Given the description of an element on the screen output the (x, y) to click on. 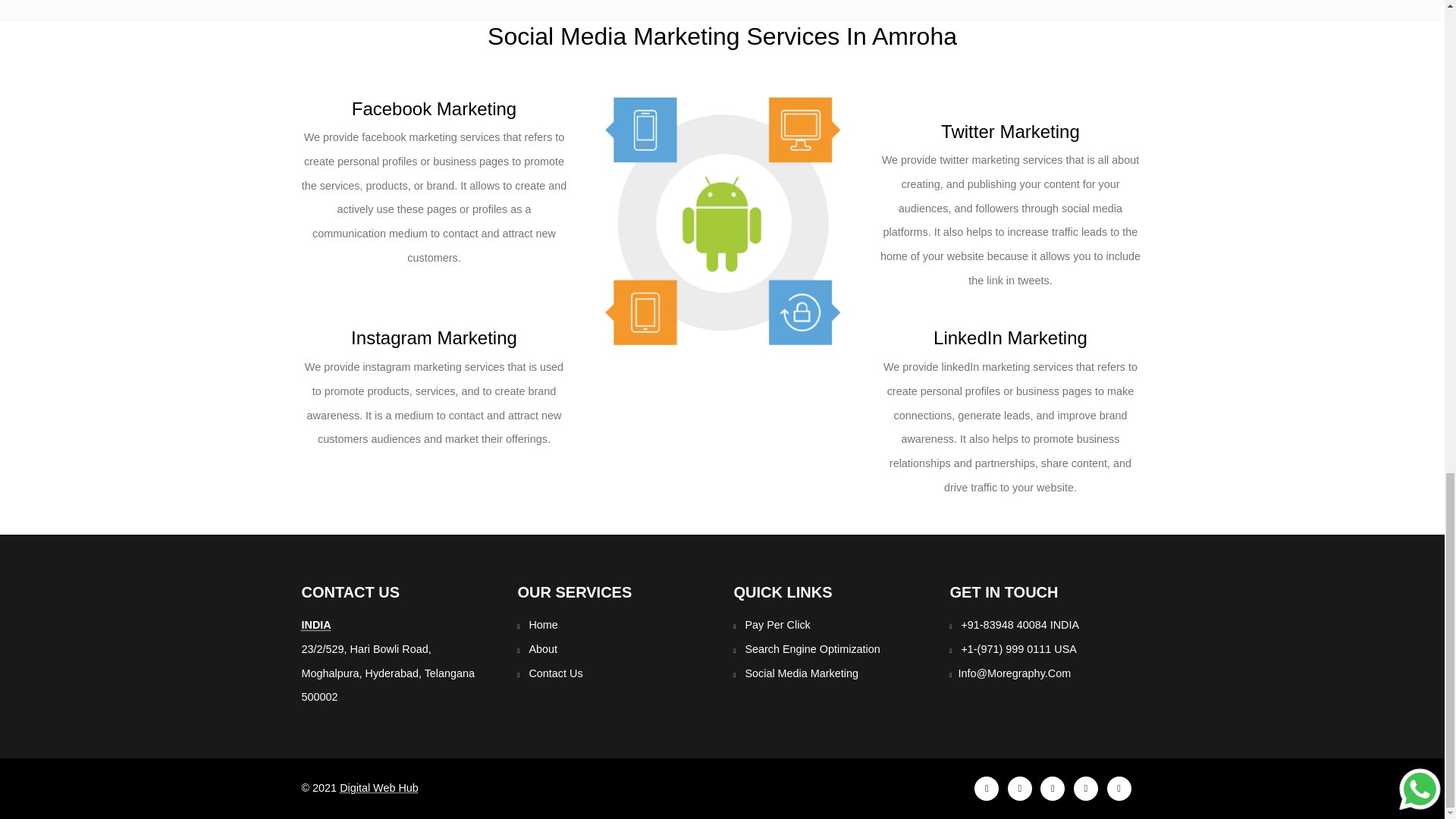
About (542, 648)
Social Media Marketing (801, 673)
Search Engine Optimization (811, 648)
Address (316, 624)
Digital Web Hub (379, 787)
Pay Per Click (776, 624)
Digital Web Hub (379, 787)
Home (542, 624)
Contact Us (555, 673)
